Given the description of an element on the screen output the (x, y) to click on. 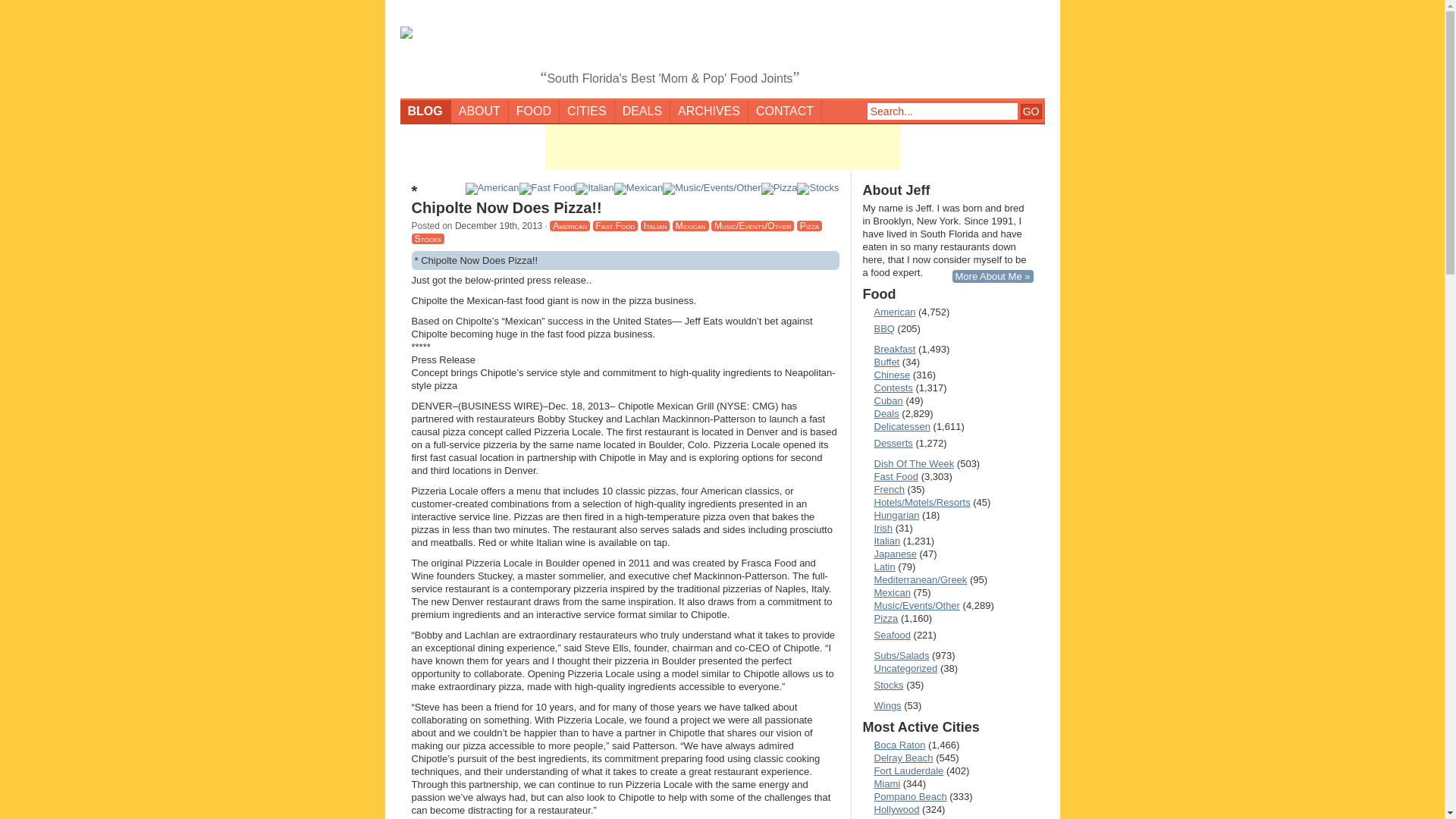
BLOG (425, 110)
Fast Food (615, 225)
FOOD (533, 110)
Blog Archives (708, 110)
CITIES (586, 110)
GO (1031, 111)
GO (1031, 111)
Mexican (690, 225)
Contact Me (785, 110)
American (889, 311)
ARCHIVES (708, 110)
Cities Archive (586, 110)
Jeff Eats (722, 49)
Stocks (427, 238)
DEALS (641, 110)
